Given the description of an element on the screen output the (x, y) to click on. 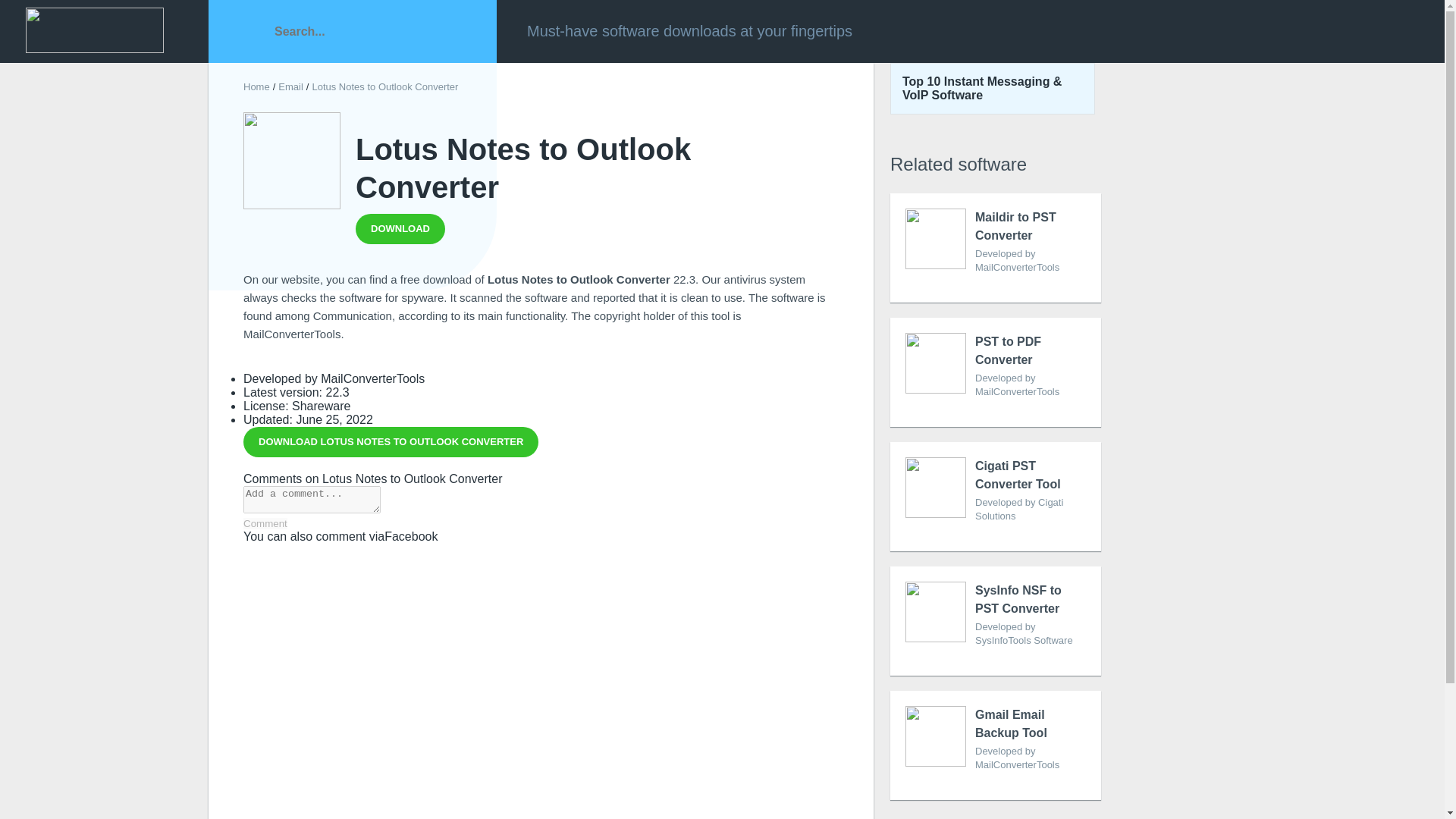
Comment (264, 523)
Email (290, 86)
Home (256, 86)
Software and Games for Windows (994, 247)
DOWNLOAD LOTUS NOTES TO OUTLOOK CONVERTER (256, 86)
Email Software for Windows (390, 441)
DOWNLOAD (290, 86)
Comment (400, 228)
Download Lotus Notes to Outlook Converter 22.3 for free (264, 523)
Software and Games for Windows (390, 441)
